Given the description of an element on the screen output the (x, y) to click on. 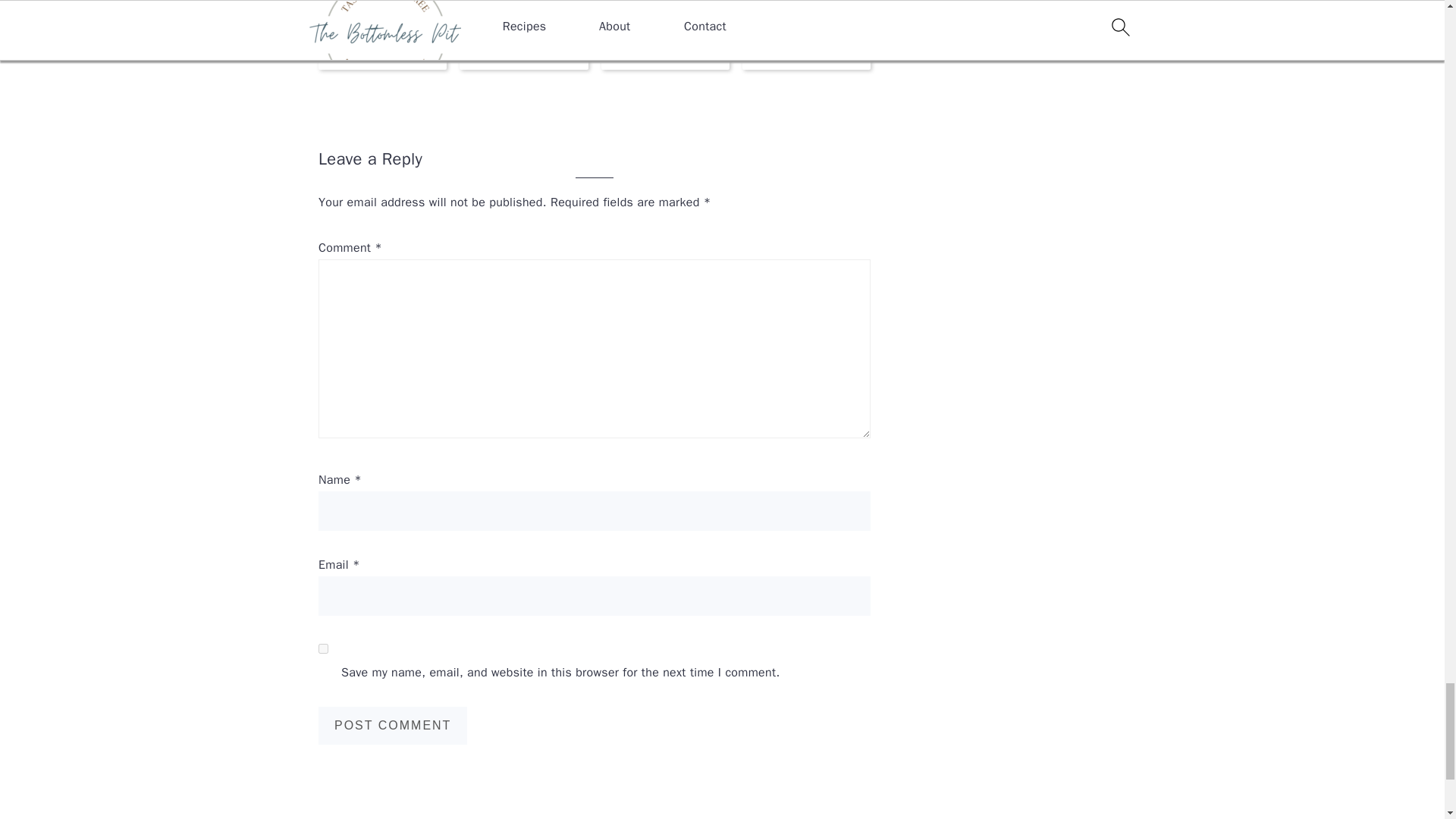
Matcha Cookies with Almond Flour (524, 28)
Flourless Peanut Butter Cookies with Mini Chocolate Eggs (382, 28)
Post Comment (392, 725)
Post Comment (392, 725)
Blood Orange Margarita: Made Quick and Easy! (664, 28)
yes (323, 648)
